Given the description of an element on the screen output the (x, y) to click on. 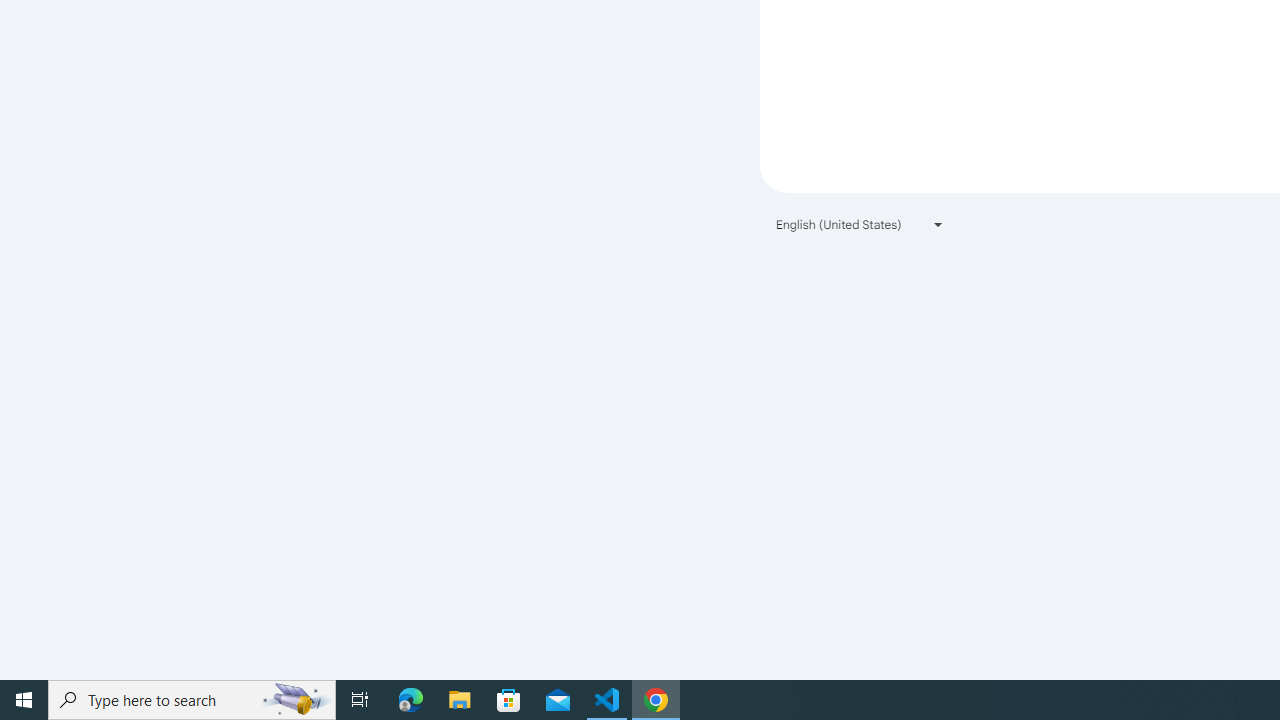
English (United States) (860, 224)
